Given the description of an element on the screen output the (x, y) to click on. 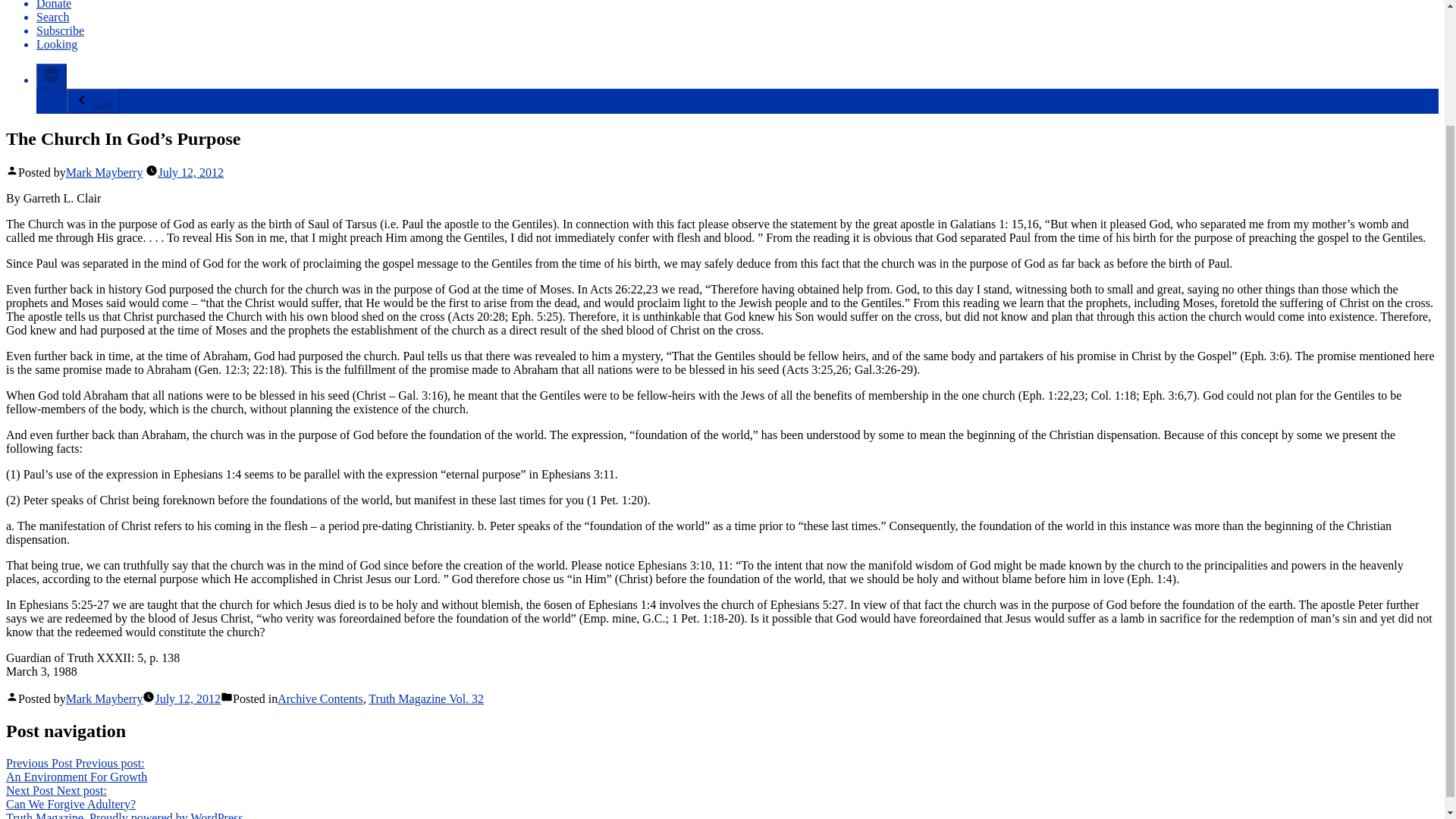
Subscribe (70, 796)
Truth Magazine Vol. 32 (60, 30)
Donate (425, 698)
Mark Mayberry (53, 4)
Mark Mayberry (103, 172)
July 12, 2012 (103, 698)
Looking (187, 698)
Search (56, 43)
Back (52, 16)
Archive Contents (92, 100)
July 12, 2012 (320, 698)
